Given the description of an element on the screen output the (x, y) to click on. 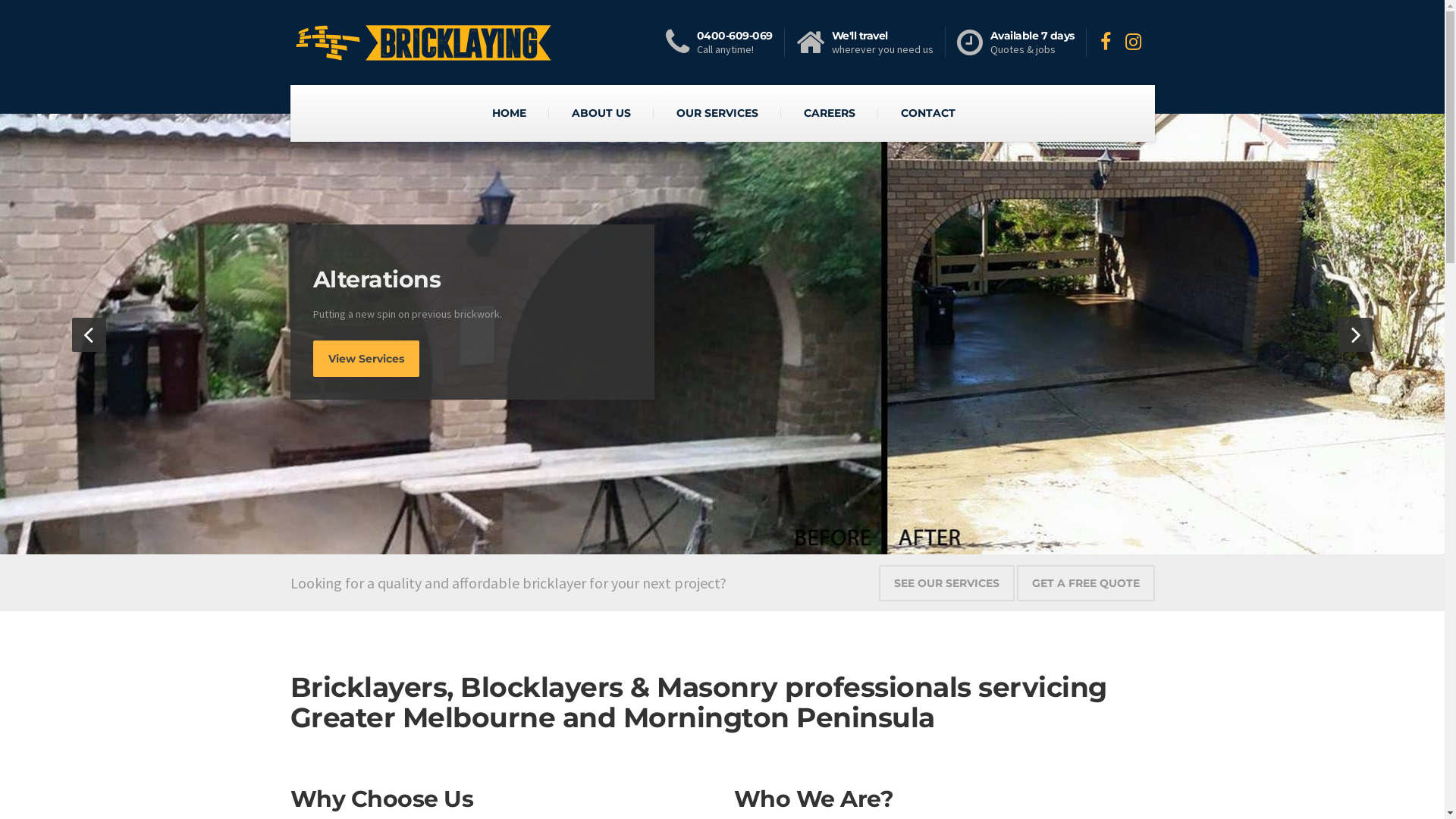
HOME Element type: text (509, 112)
View Services Element type: text (365, 358)
CAREERS Element type: text (829, 112)
GET A FREE QUOTE Element type: text (1085, 582)
OUR SERVICES Element type: text (717, 112)
CONTACT Element type: text (928, 112)
ABOUT US Element type: text (601, 112)
0400-609-069
Call anytime! Element type: text (724, 42)
SEE OUR SERVICES Element type: text (945, 582)
